Given the description of an element on the screen output the (x, y) to click on. 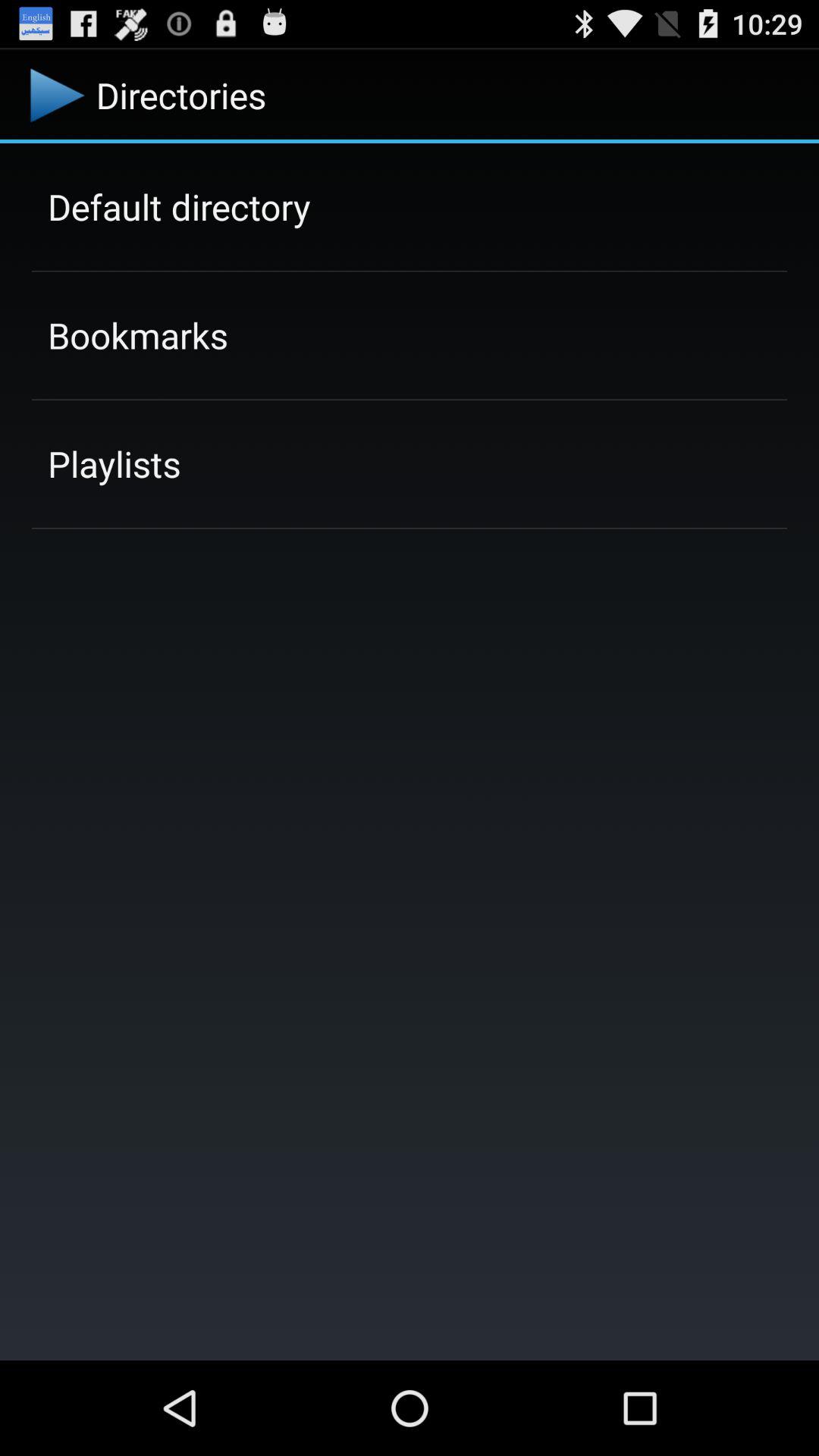
select the playlists (113, 463)
